Given the description of an element on the screen output the (x, y) to click on. 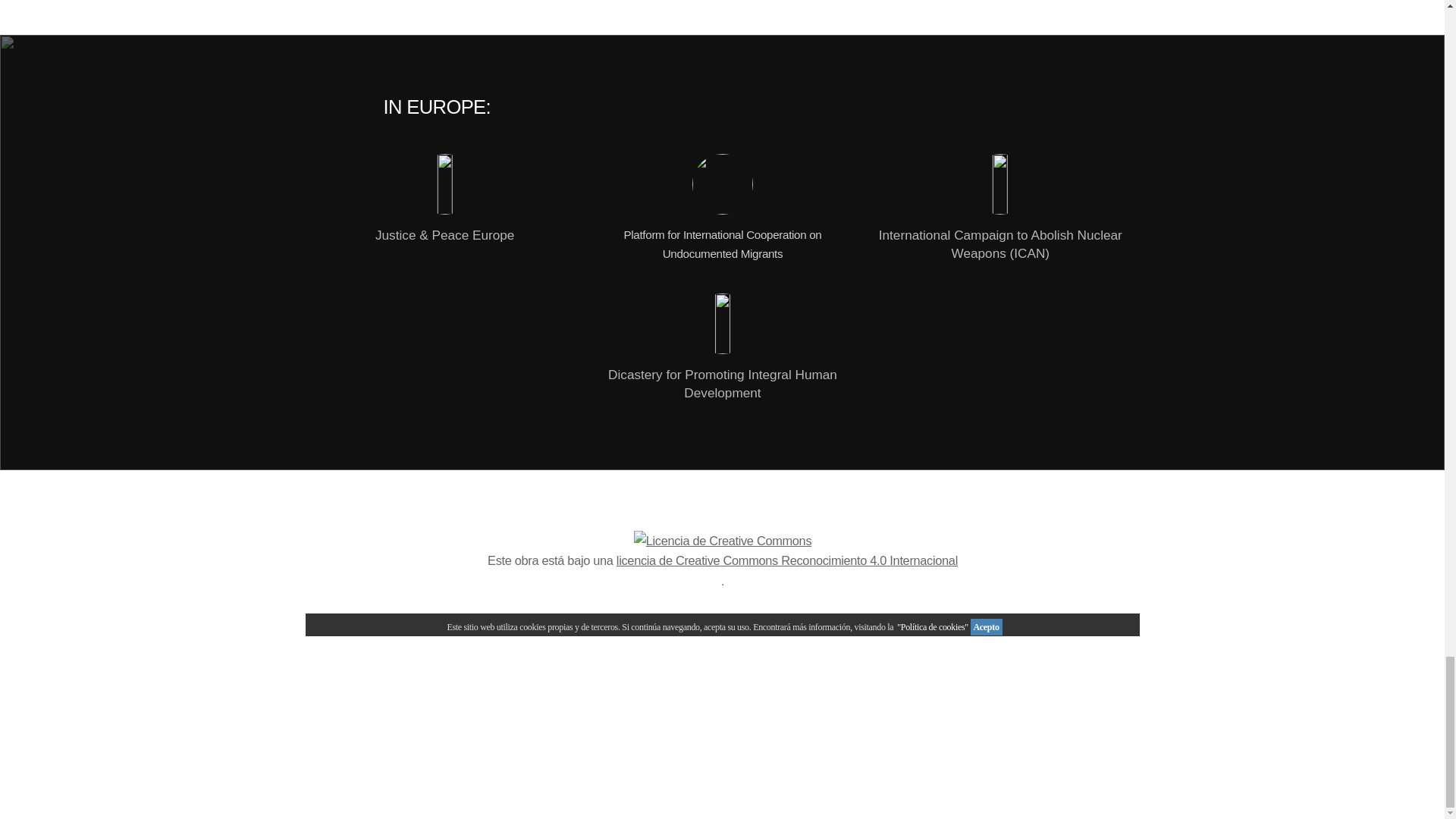
Acepto (985, 627)
Dicastery for Promoting Integral Human Development (721, 347)
